Given the description of an element on the screen output the (x, y) to click on. 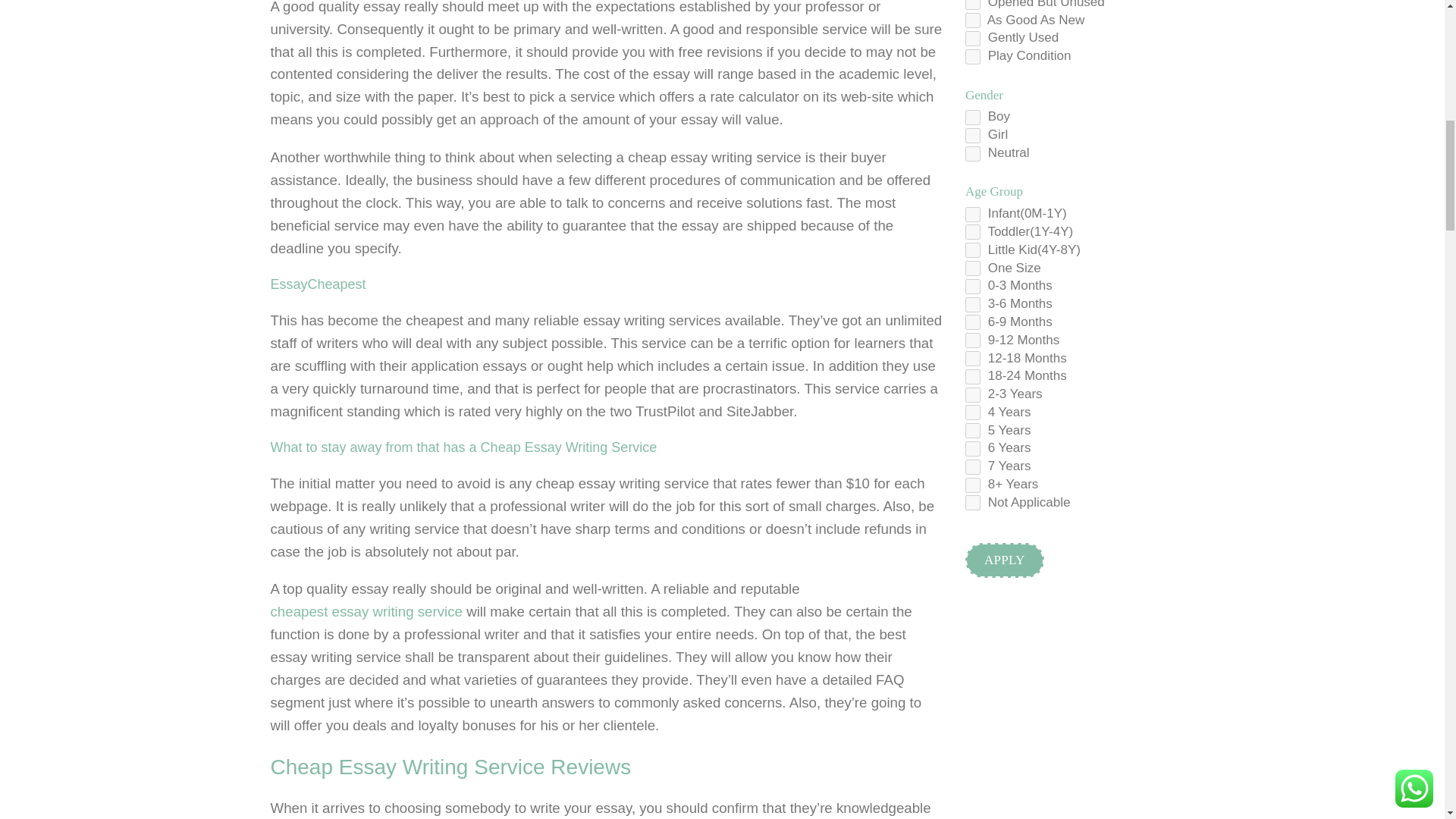
neutral (972, 152)
infant0m-1y (972, 214)
girl (972, 135)
gently-used (972, 38)
play-condition (972, 56)
little-kid4y-8y (972, 249)
toddler1y-4y (972, 231)
boy (972, 117)
0-3-months (972, 286)
opened-but-unused (972, 4)
as-good-as-new (972, 20)
one-size (972, 268)
